Given the description of an element on the screen output the (x, y) to click on. 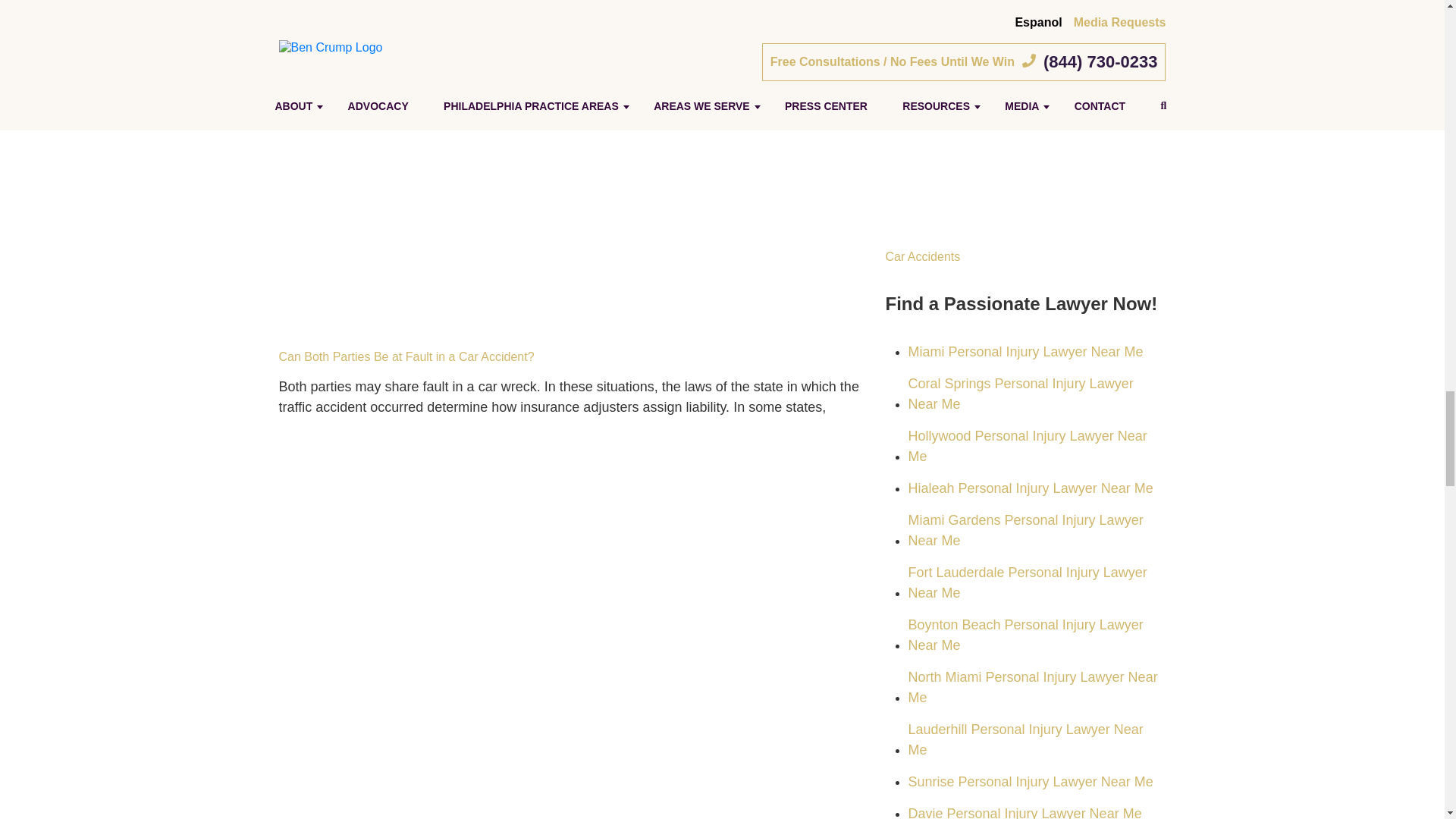
Who Determines Fault in an Auto Accident? (1025, 124)
